Given the description of an element on the screen output the (x, y) to click on. 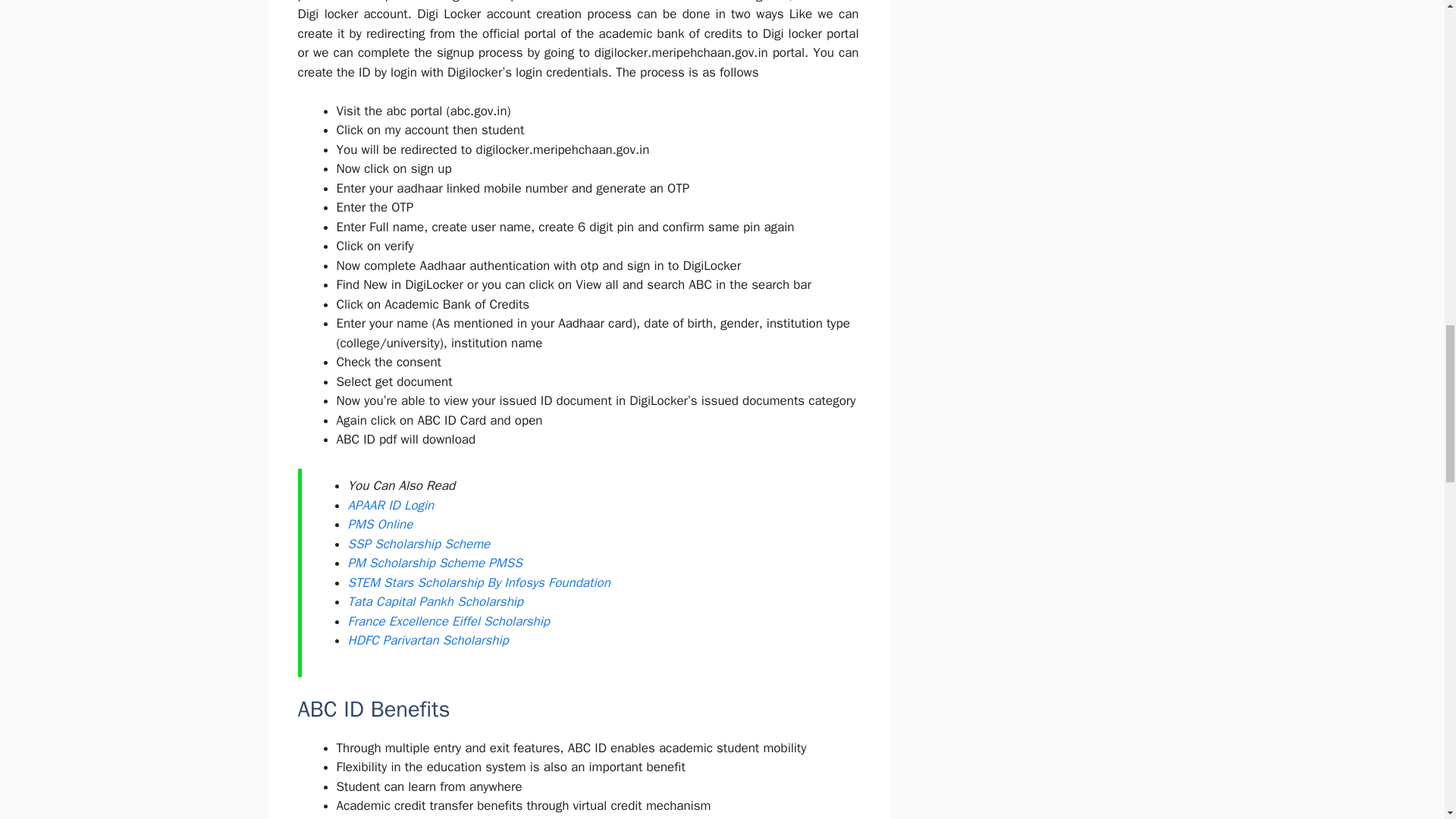
STEM Stars Scholarship By Infosys Foundation (478, 582)
PMS Online (379, 524)
Tata Capital Pankh Scholarship (434, 601)
SSP Scholarship Scheme (418, 544)
HDFC Parivartan Scholarship (427, 640)
PM Scholarship Scheme PMSS (434, 562)
APAAR ID Login (390, 505)
France Excellence Eiffel Scholarship (448, 621)
